Given the description of an element on the screen output the (x, y) to click on. 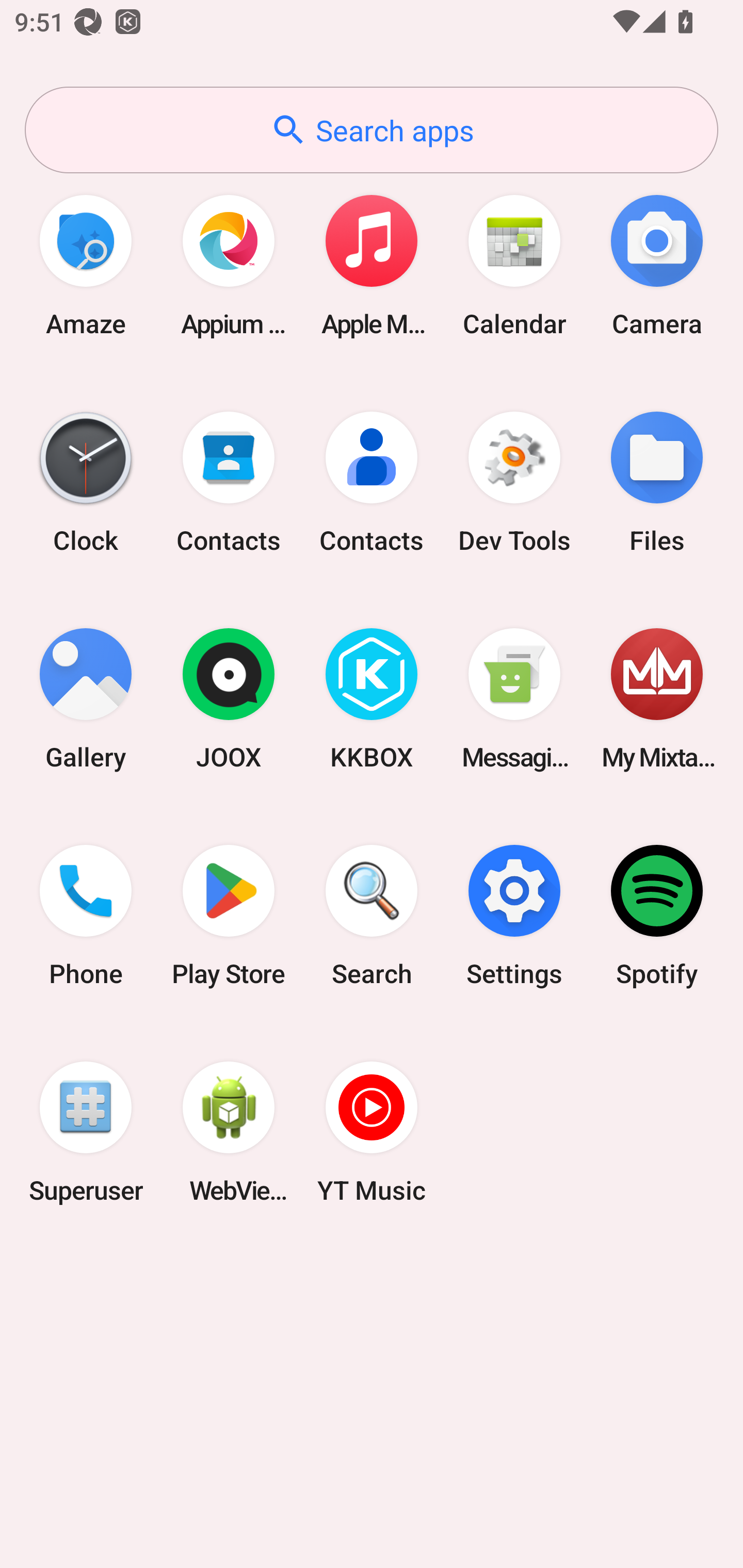
  Search apps (371, 130)
Amaze (85, 264)
Appium Settings (228, 264)
Apple Music (371, 264)
Calendar (514, 264)
Camera (656, 264)
Clock (85, 482)
Contacts (228, 482)
Contacts (371, 482)
Dev Tools (514, 482)
Files (656, 482)
Gallery (85, 699)
JOOX (228, 699)
KKBOX (371, 699)
Messaging (514, 699)
My Mixtapez (656, 699)
Phone (85, 915)
Play Store (228, 915)
Search (371, 915)
Settings (514, 915)
Spotify (656, 915)
Superuser (85, 1131)
WebView Browser Tester (228, 1131)
YT Music (371, 1131)
